Given the description of an element on the screen output the (x, y) to click on. 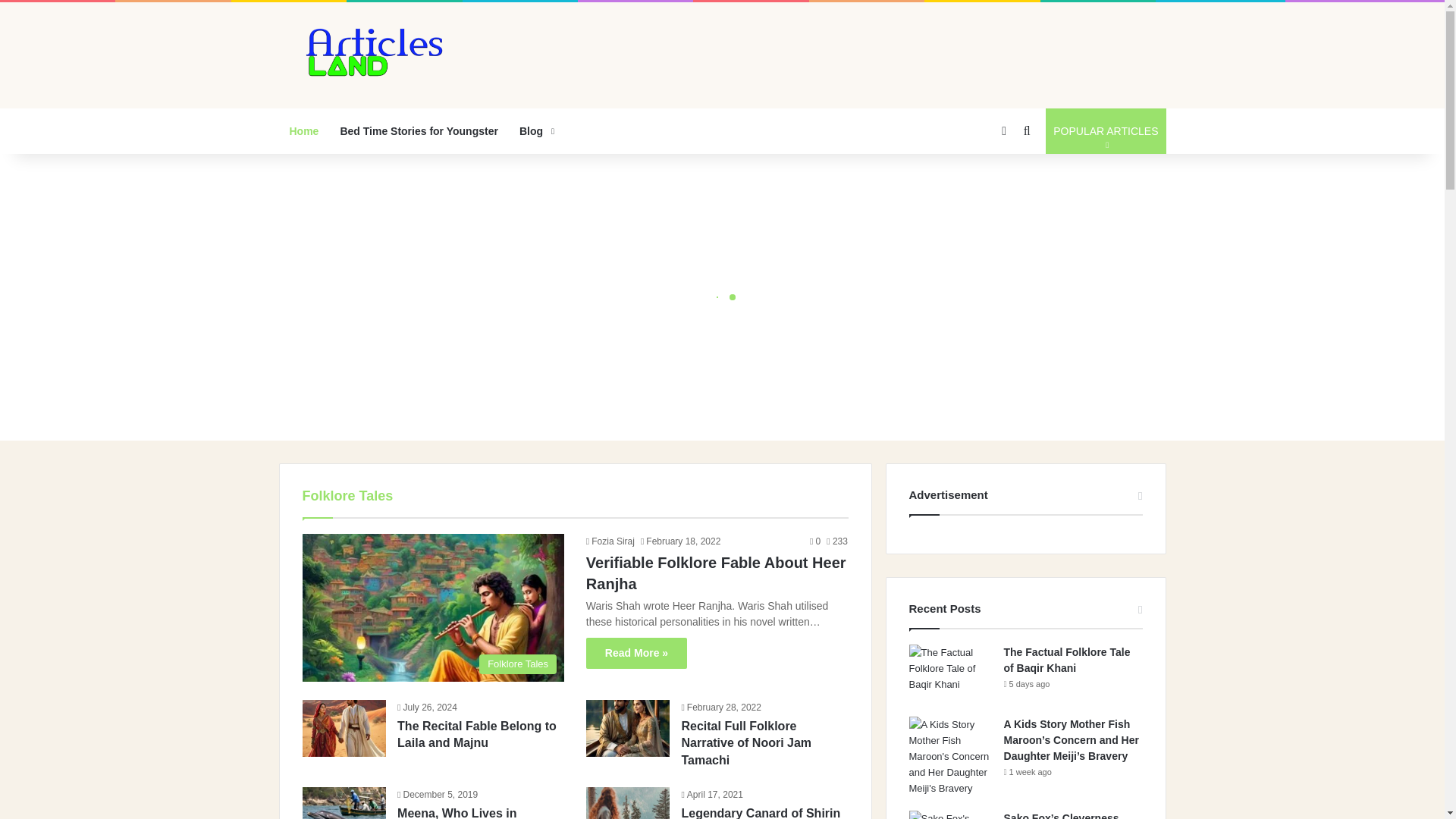
Fozia Siraj (1105, 130)
Fozia Siraj (610, 541)
ArticlesLand (610, 541)
Blog (364, 55)
Verifiable Folklore Fable About Heer Ranjha (535, 130)
Home (715, 573)
The Recital Fable Belong to Laila and Majnu (304, 130)
Bed Time Stories for Youngster (476, 734)
Folklore Tales (418, 130)
